Given the description of an element on the screen output the (x, y) to click on. 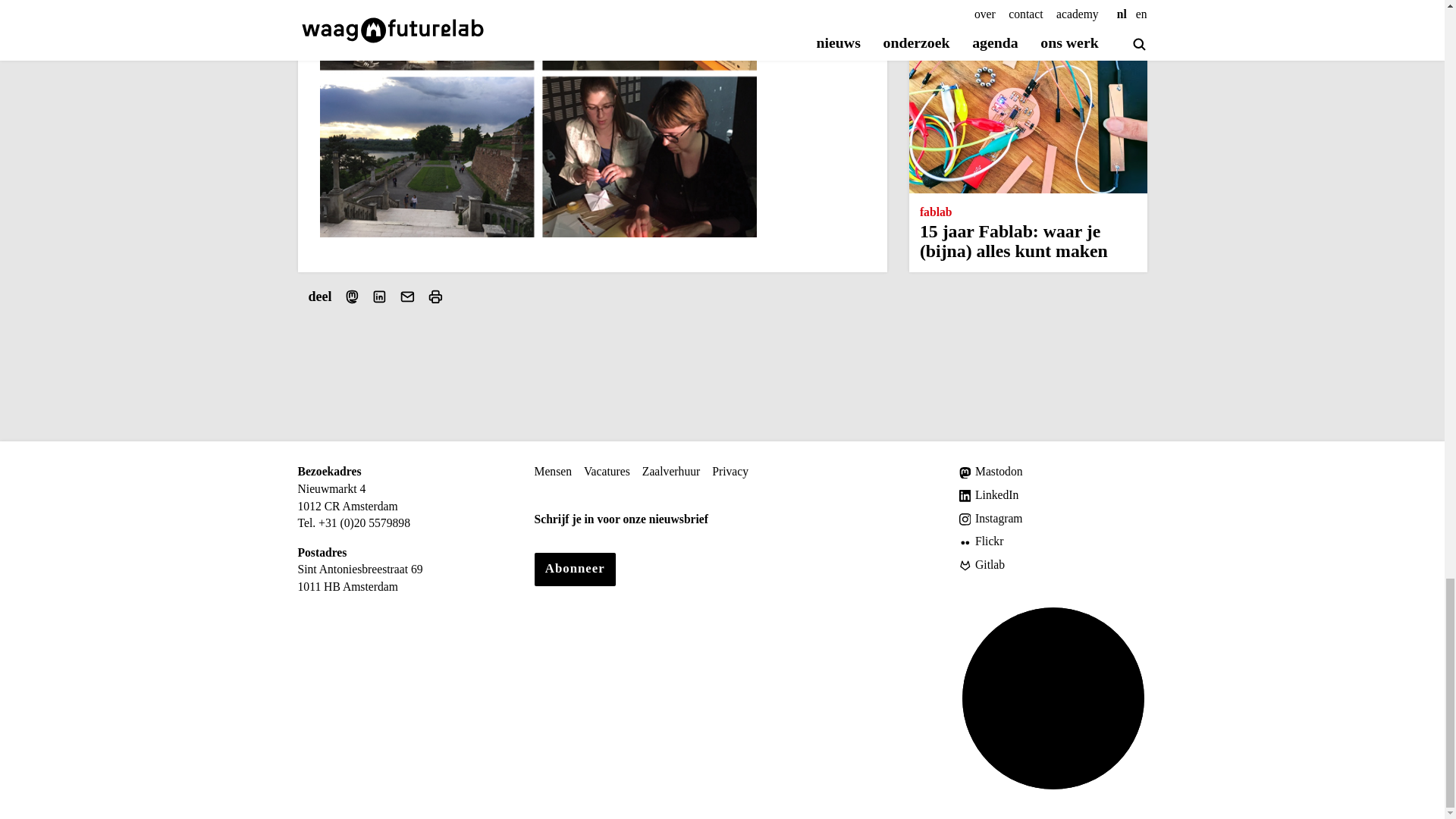
Deel via e-mail (406, 297)
Vacatures (606, 471)
Mensen (553, 471)
Zaalverhuur (671, 471)
Deel via LinkedIn (379, 297)
Print (436, 297)
Privacy (729, 471)
LinkedIn (1052, 495)
Mastodon (1052, 471)
